Given the description of an element on the screen output the (x, y) to click on. 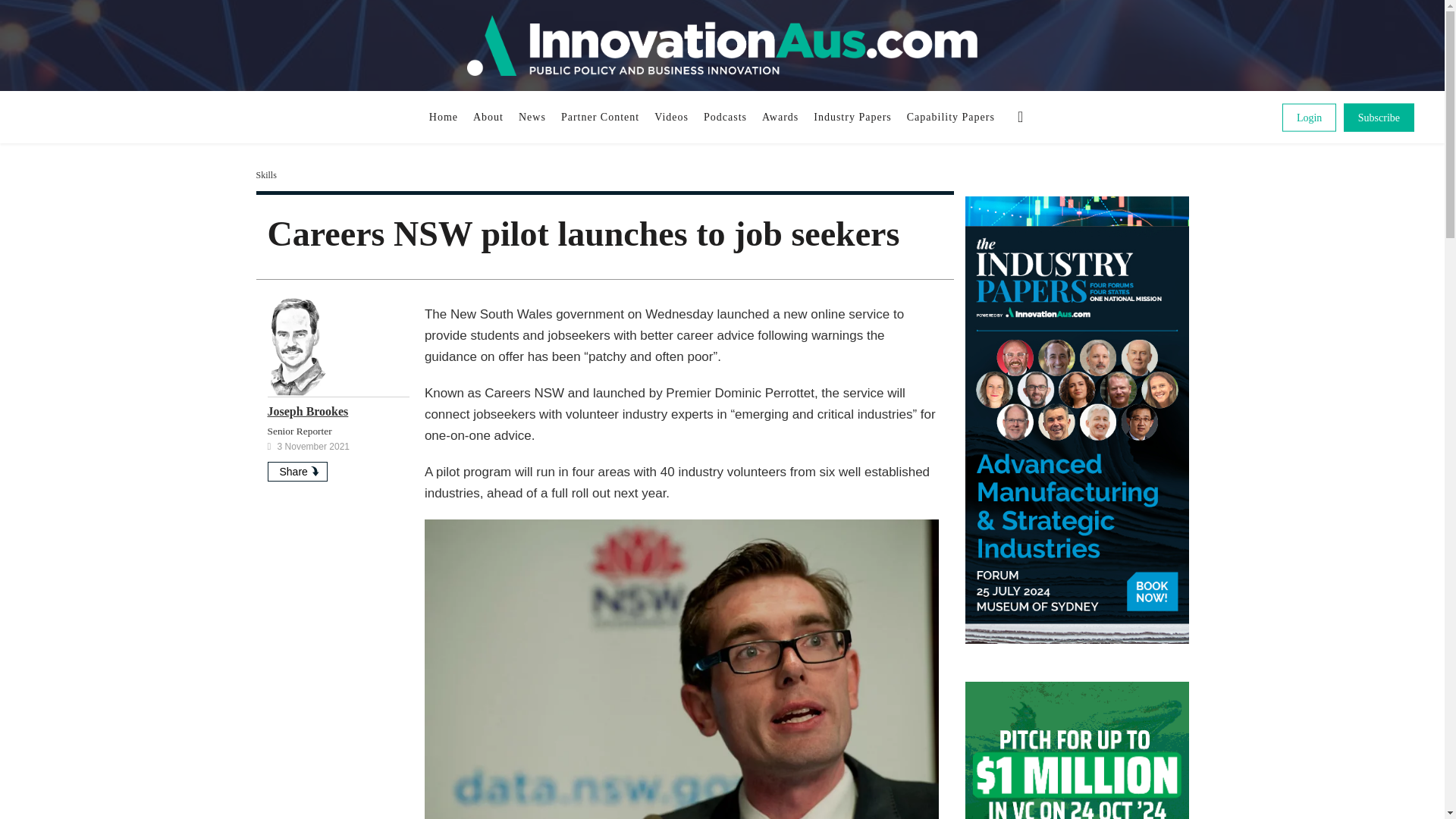
Awards (780, 116)
Partner Content (599, 116)
Share (296, 471)
Capability Papers (951, 116)
skills (266, 174)
Industry Papers (852, 116)
Podcasts (724, 116)
Videos (670, 116)
News (532, 116)
Subscribe (1378, 117)
Joseph Brookes (306, 410)
Login (1309, 117)
About (488, 116)
Home (443, 116)
